Given the description of an element on the screen output the (x, y) to click on. 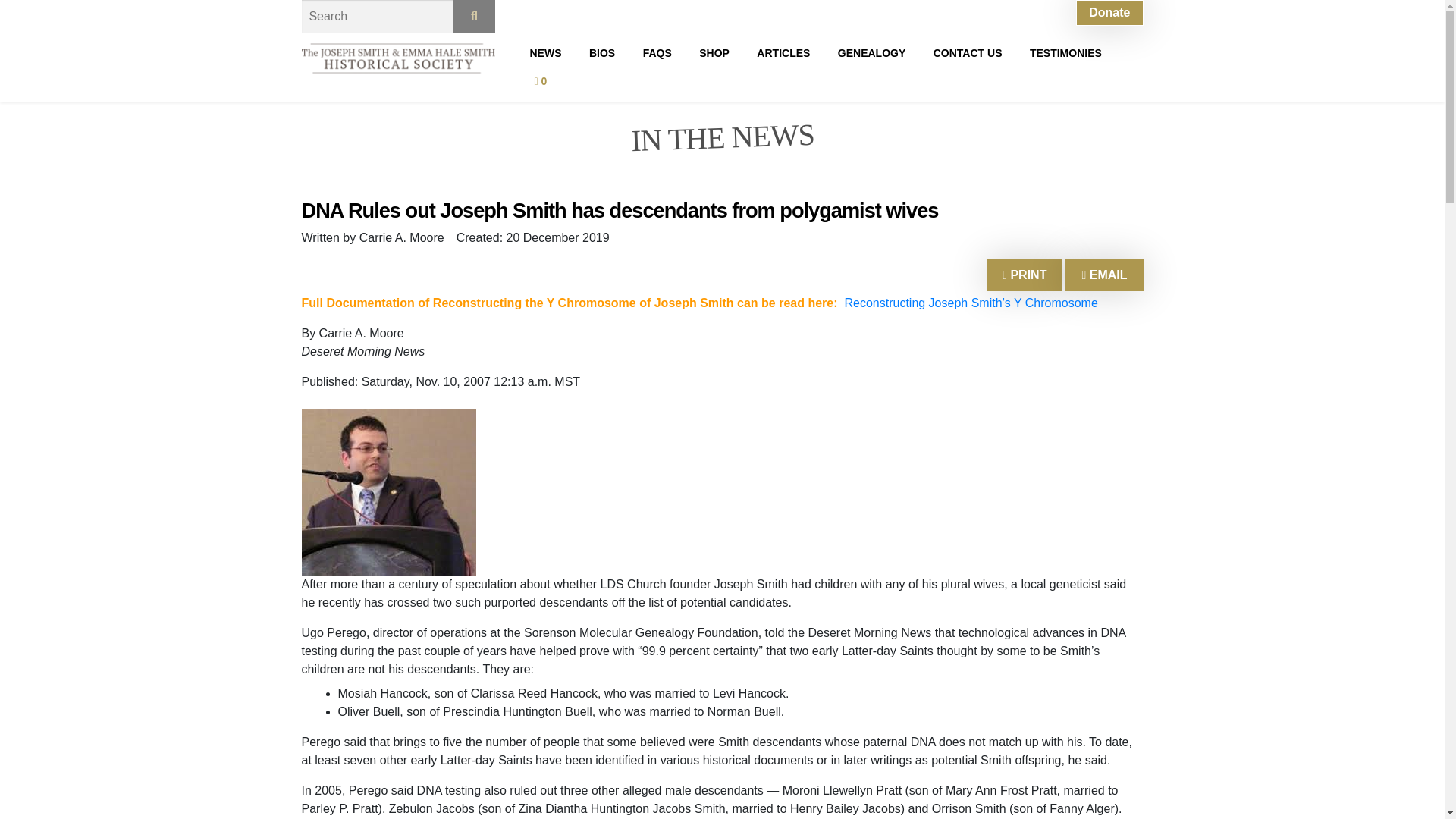
Email (1103, 275)
Print (1024, 275)
